Given the description of an element on the screen output the (x, y) to click on. 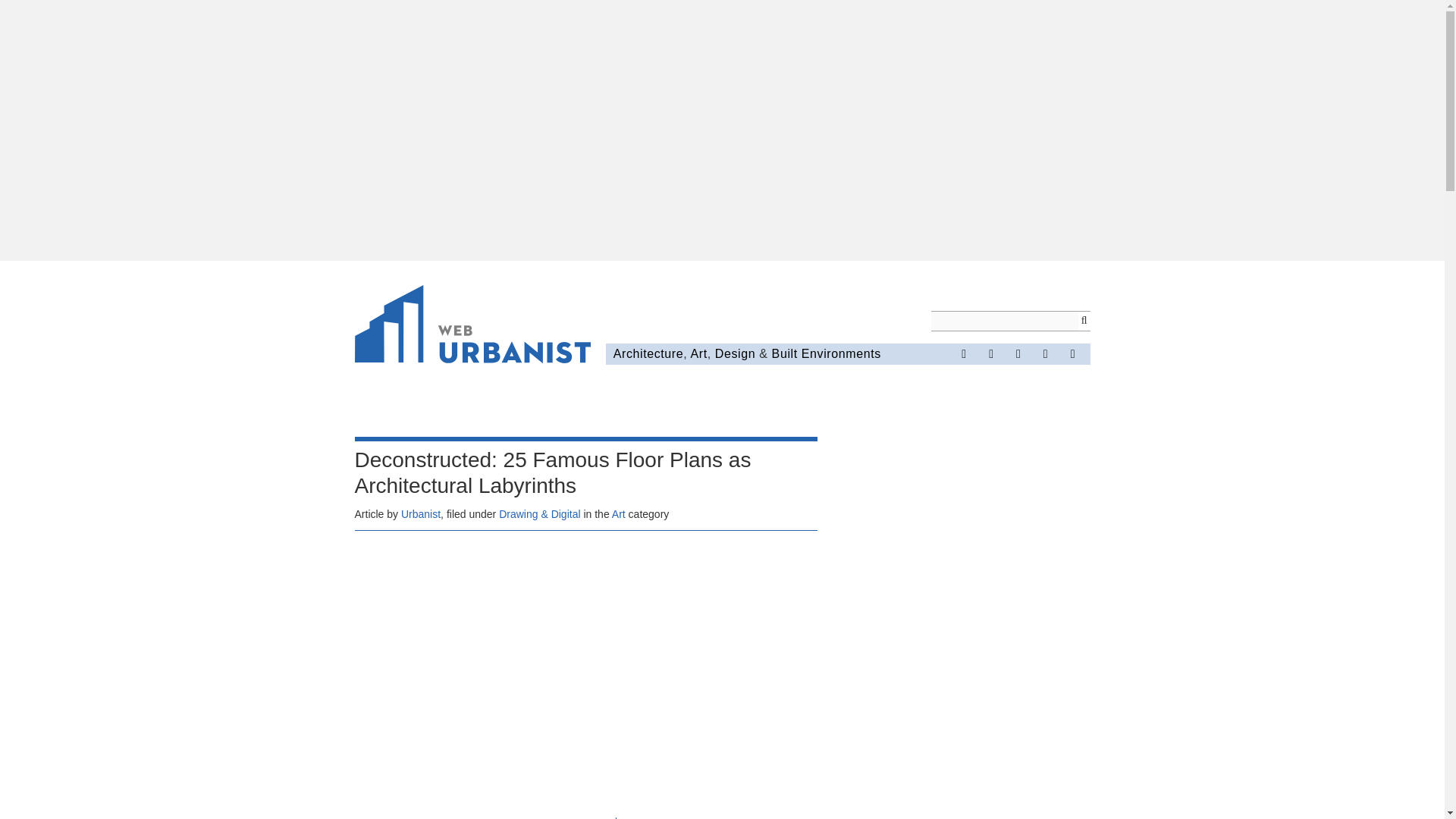
Check Out Posts on Pinterest! (1018, 353)
Art (618, 513)
Subscribe to the RSS Feed! (1045, 353)
Environments (841, 353)
Built (784, 353)
Art (698, 353)
Urbanist (421, 513)
Design (734, 353)
Follow Us on Twitter! (990, 353)
Subscribe by Email (1072, 353)
